Given the description of an element on the screen output the (x, y) to click on. 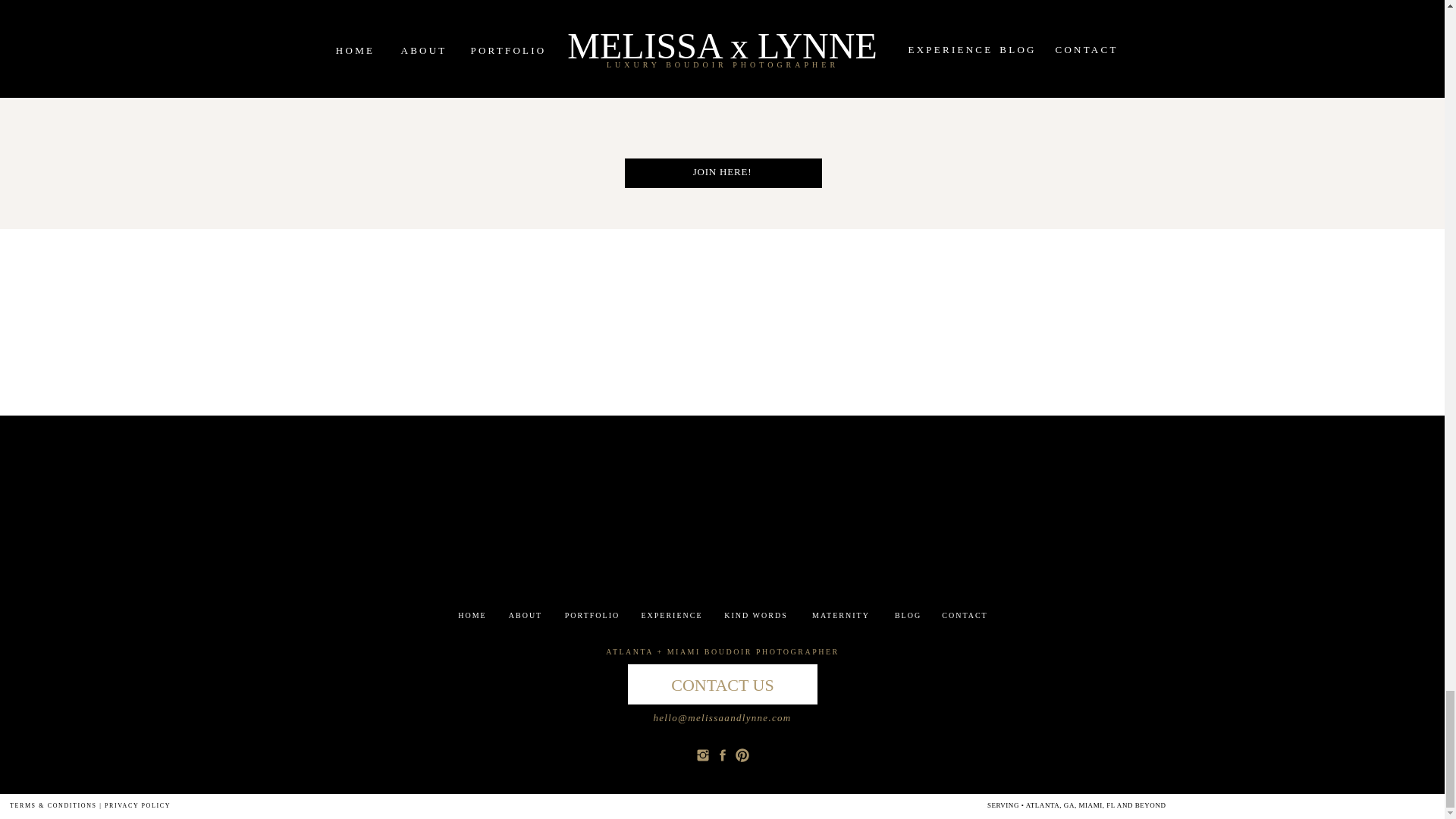
HOME (472, 615)
BLOG (907, 616)
PORTFOLIO (591, 614)
ABOUT (525, 614)
JOIN HERE! (722, 173)
EXPERIENCE (670, 615)
